Given the description of an element on the screen output the (x, y) to click on. 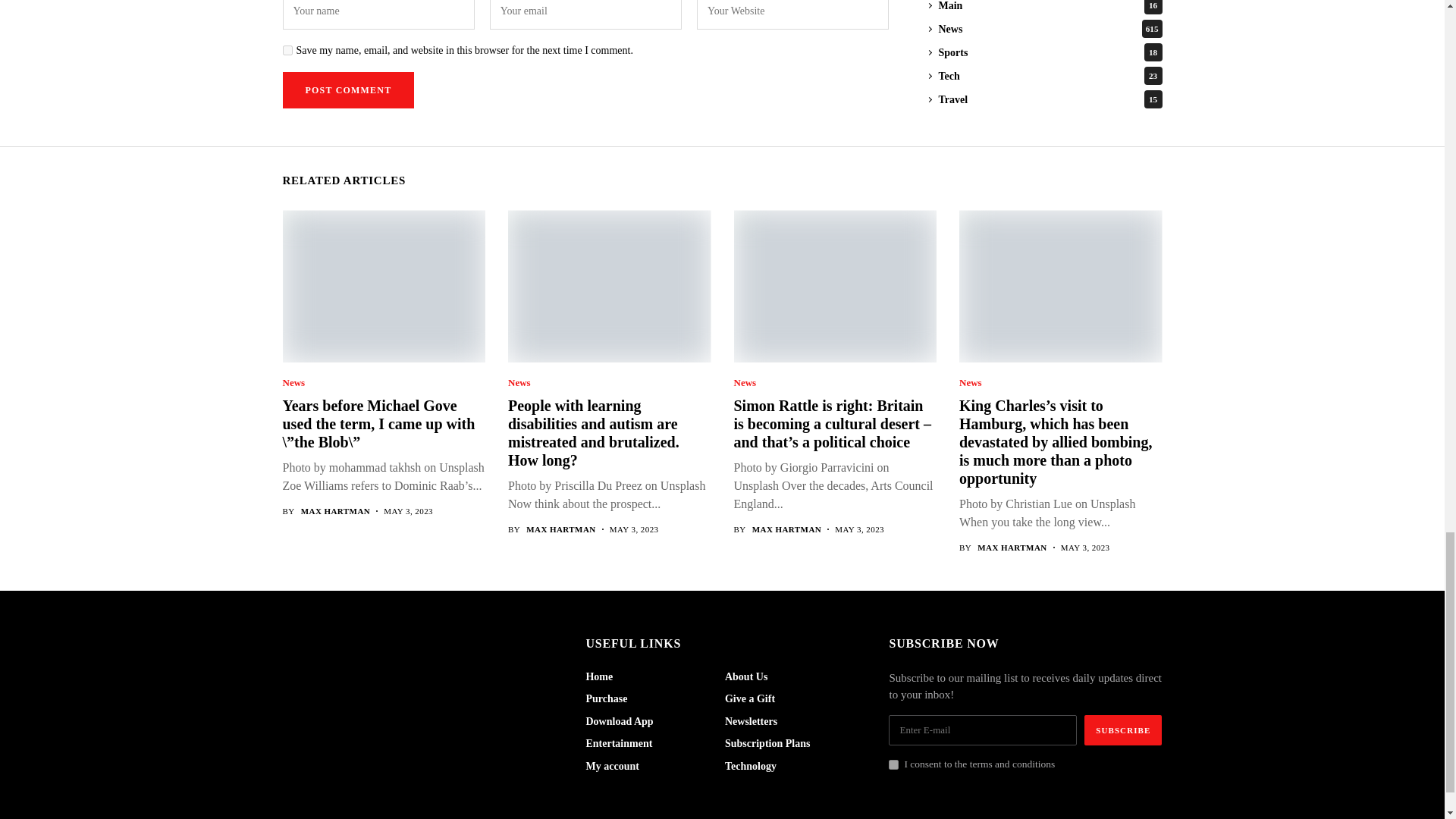
Post Comment (347, 90)
yes (287, 50)
1 (893, 764)
Posts by Max Hartman (1011, 547)
Posts by Max Hartman (560, 529)
Posts by Max Hartman (787, 529)
Subscribe (1122, 729)
Posts by Max Hartman (336, 511)
